Given the description of an element on the screen output the (x, y) to click on. 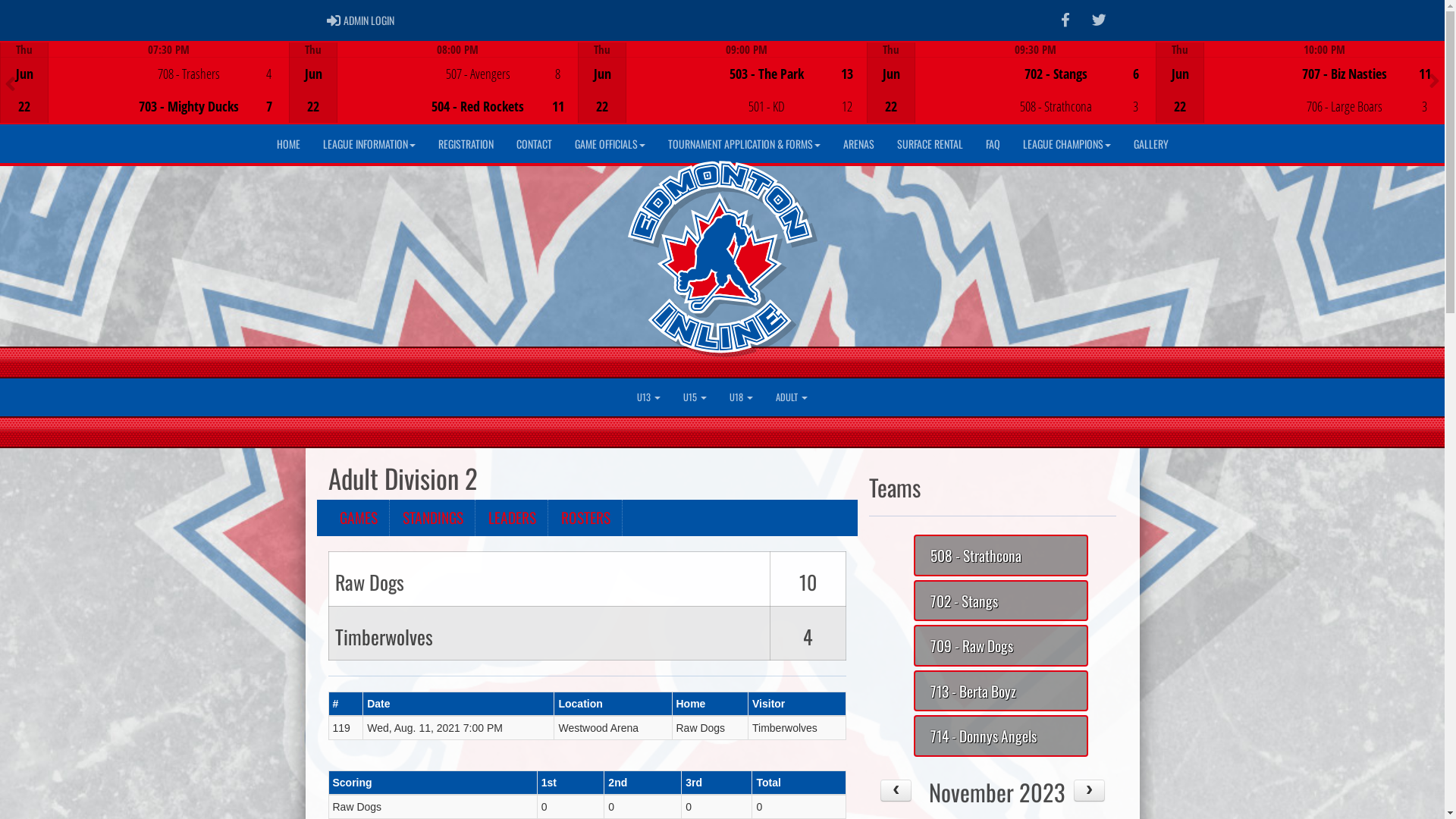
SURFACE RENTAL Element type: text (929, 144)
Facebook Element type: text (1065, 20)
LOGIN PAGE
 ADMIN LOGIN
ADMIN LOGIN Element type: text (360, 20)
714 - Donnys Angels Element type: text (1000, 735)
TOURNAMENT APPLICATION & FORMS Element type: text (743, 144)
LEAGUE CHAMPIONS Element type: text (1066, 144)
Twitter Element type: text (1099, 20)
Login Page Element type: hover (333, 20)
508 - Strathcona Element type: text (1000, 555)
GAMES Element type: text (358, 517)
709 - Raw Dogs Element type: text (1000, 645)
FAQ Element type: text (991, 144)
ADULT Element type: text (791, 397)
CONTACT Element type: text (534, 144)
follow us Element type: hover (1099, 19)
Next Element type: text (1434, 80)
like us Element type: hover (1065, 19)
STANDINGS Element type: text (433, 517)
U18 Element type: text (741, 397)
ROSTERS Element type: text (585, 517)
HOME Element type: text (288, 144)
LEADERS Element type: text (511, 517)
REGISTRATION Element type: text (465, 144)
GAME OFFICIALS Element type: text (608, 144)
GALLERY Element type: text (1150, 144)
702 - Stangs Element type: text (1000, 600)
ARENAS Element type: text (857, 144)
713 - Berta Boyz Element type: text (1000, 690)
U15 Element type: text (694, 397)
Previous Element type: text (10, 83)
LEAGUE INFORMATION Element type: text (368, 144)
U13 Element type: text (648, 397)
